Given the description of an element on the screen output the (x, y) to click on. 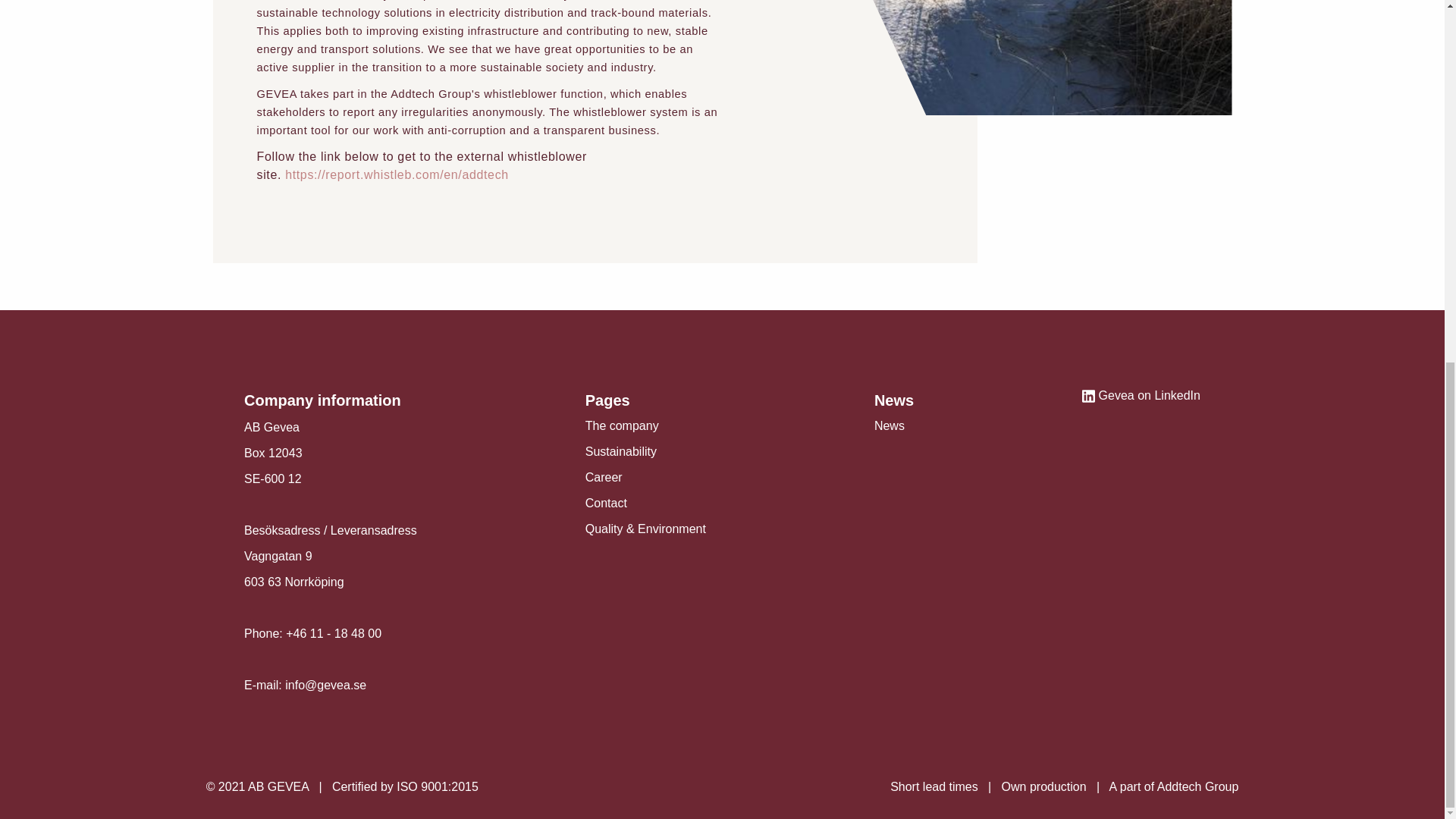
Career (604, 477)
Gevea on LinkedIn (1140, 395)
News (889, 425)
Sustainability (620, 451)
The company (622, 425)
Contact (606, 502)
